Given the description of an element on the screen output the (x, y) to click on. 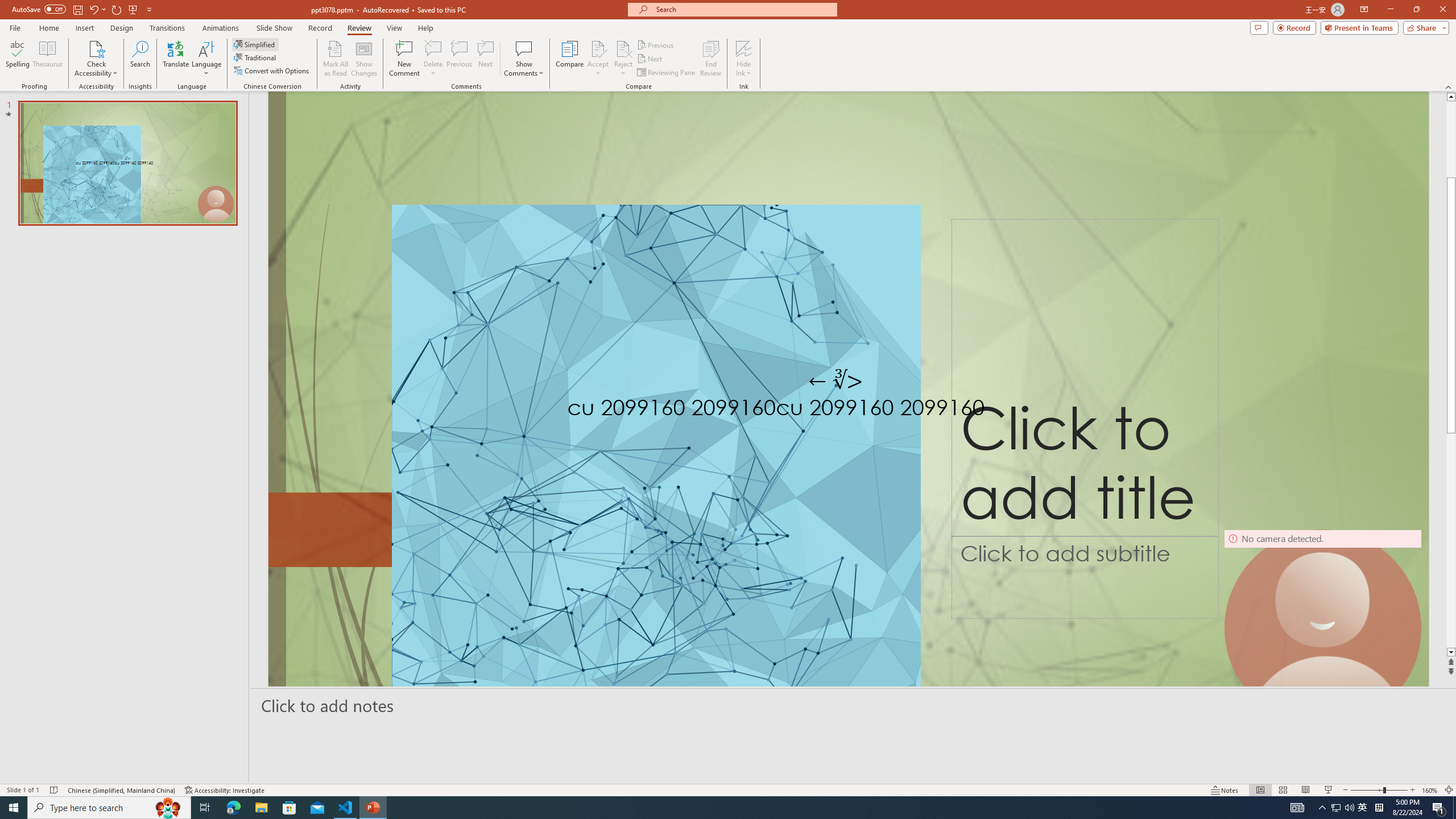
Camera 9, No camera detected. (1322, 628)
Accept (598, 58)
Convert with Options... (272, 69)
Spelling... (17, 58)
Next (649, 58)
